Given the description of an element on the screen output the (x, y) to click on. 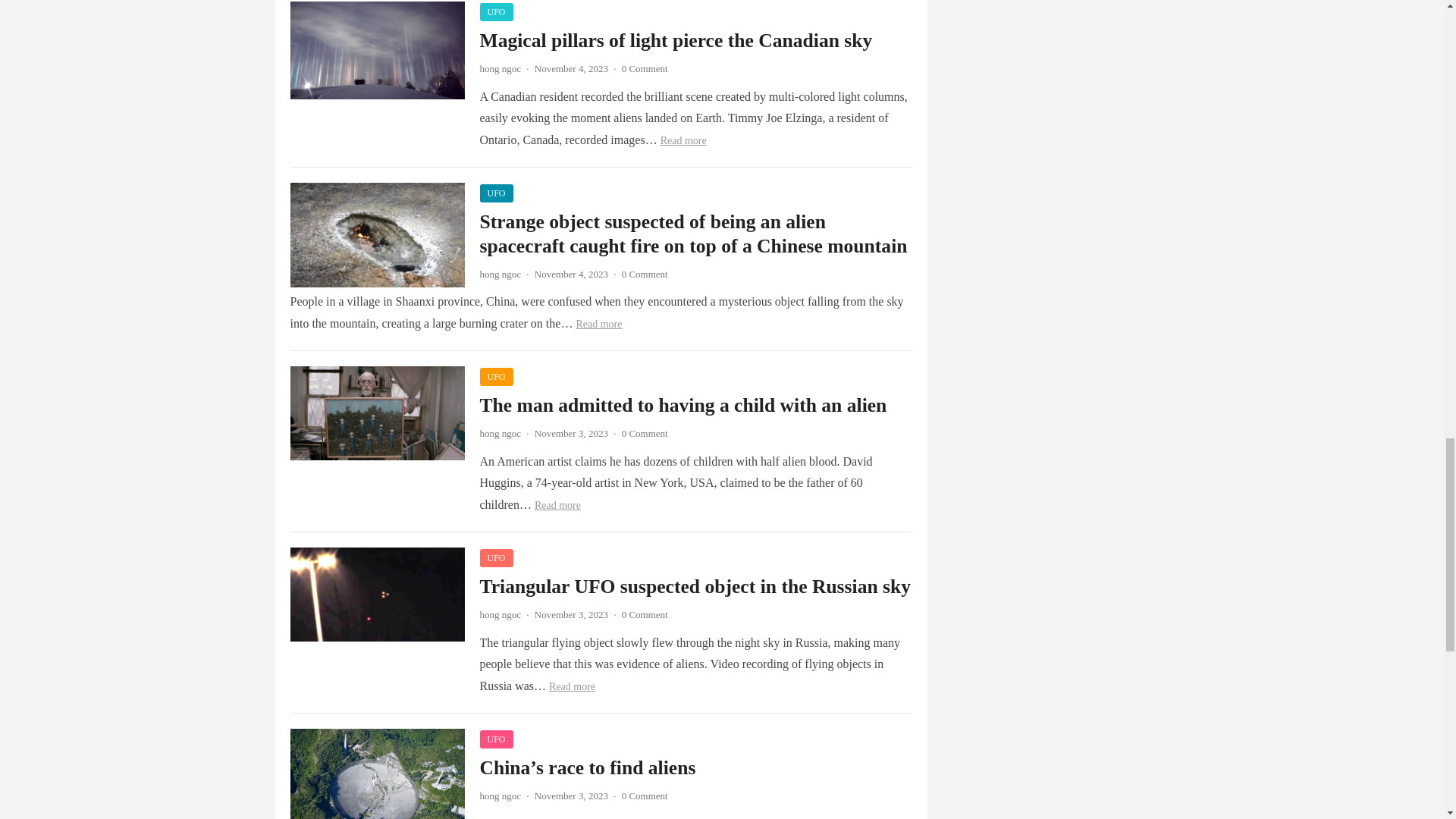
Magical pillars of light pierce the Canadian sky (675, 40)
0 Comment (644, 274)
UFO (495, 12)
Posts by hong ngoc (500, 432)
hong ngoc (500, 68)
Posts by hong ngoc (500, 274)
UFO (495, 376)
Posts by hong ngoc (500, 614)
Posts by hong ngoc (500, 795)
hong ngoc (500, 274)
0 Comment (644, 68)
Read more (683, 140)
UFO (495, 193)
Posts by hong ngoc (500, 68)
